Given the description of an element on the screen output the (x, y) to click on. 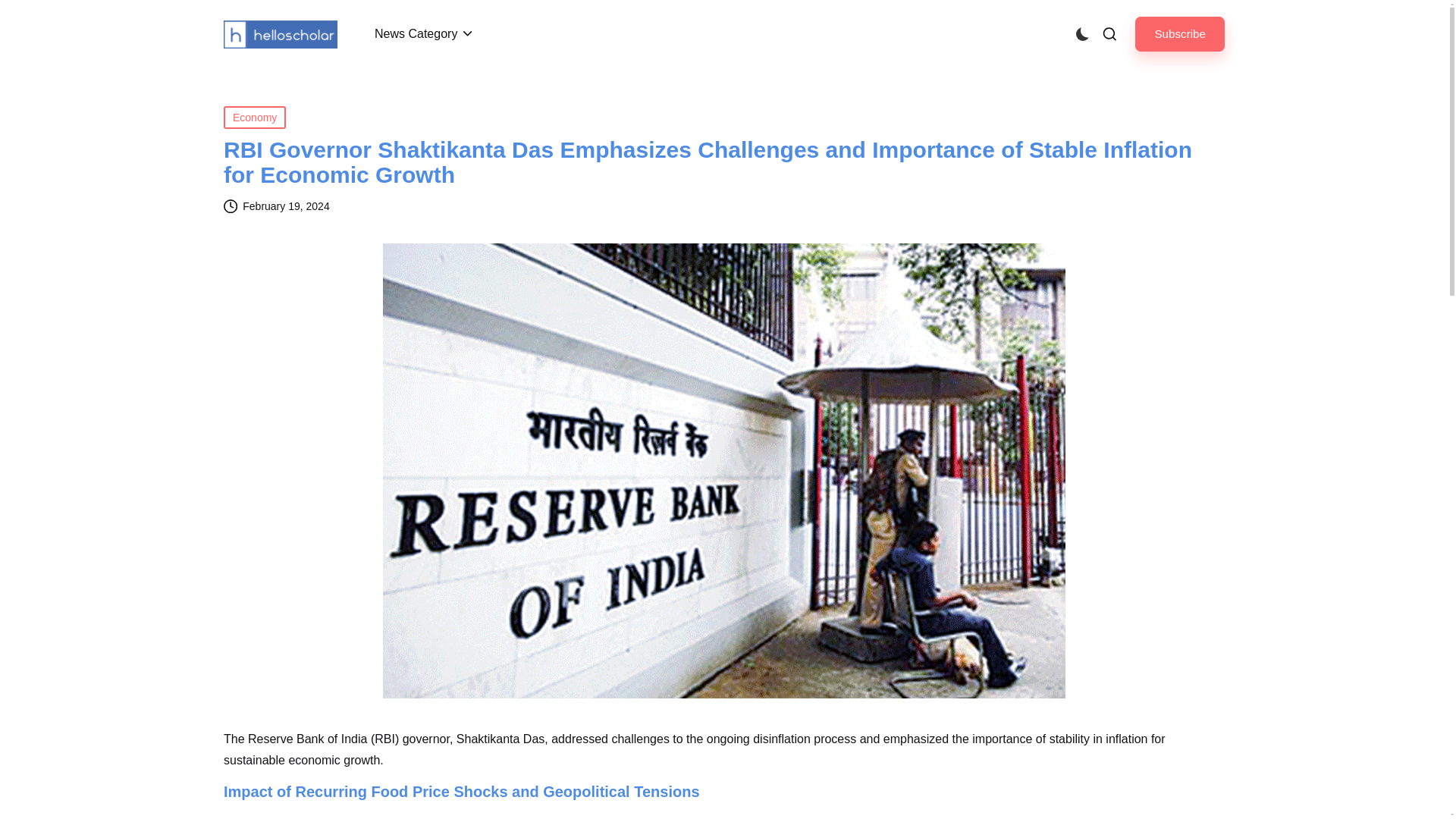
News Category (425, 33)
Economy (254, 117)
Subscribe (1179, 33)
